Given the description of an element on the screen output the (x, y) to click on. 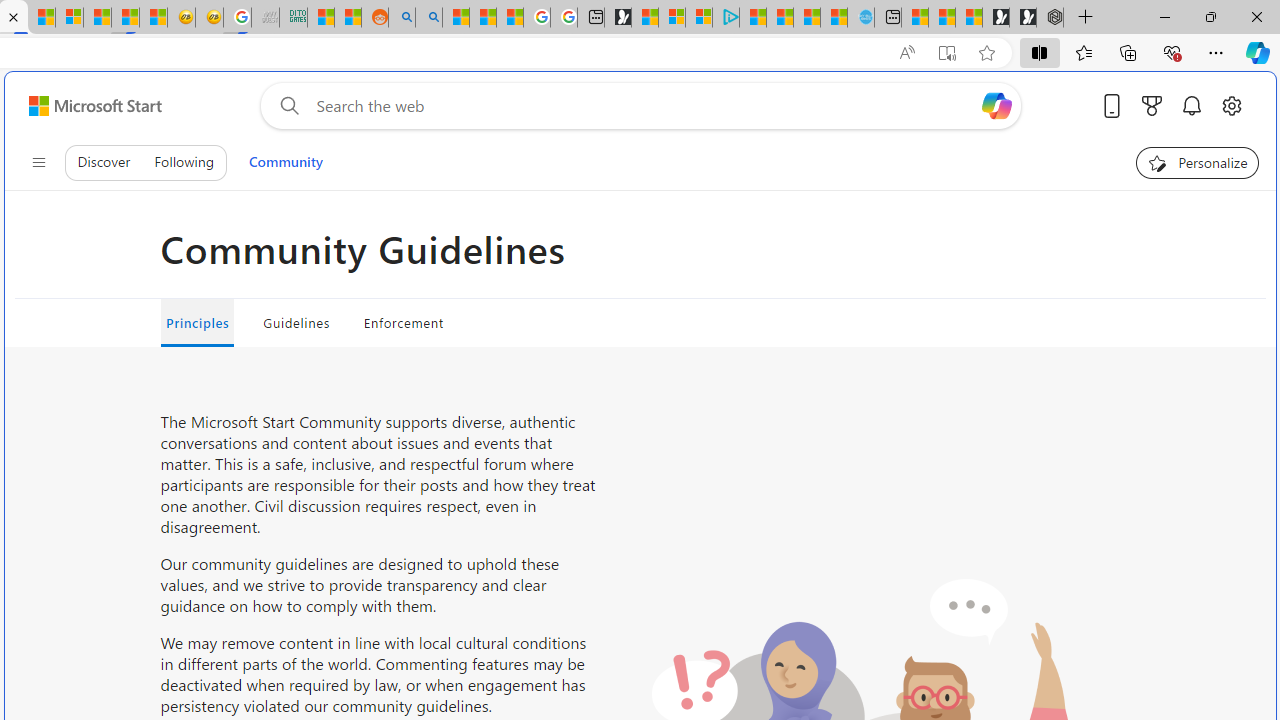
Microsoft Start Gaming (618, 17)
Skip to footer (82, 105)
Community (285, 161)
Navy Quest (265, 17)
Microsoft rewards (1151, 105)
Nordace - Nordace Siena Is Not An Ordinary Backpack (1049, 17)
